Given the description of an element on the screen output the (x, y) to click on. 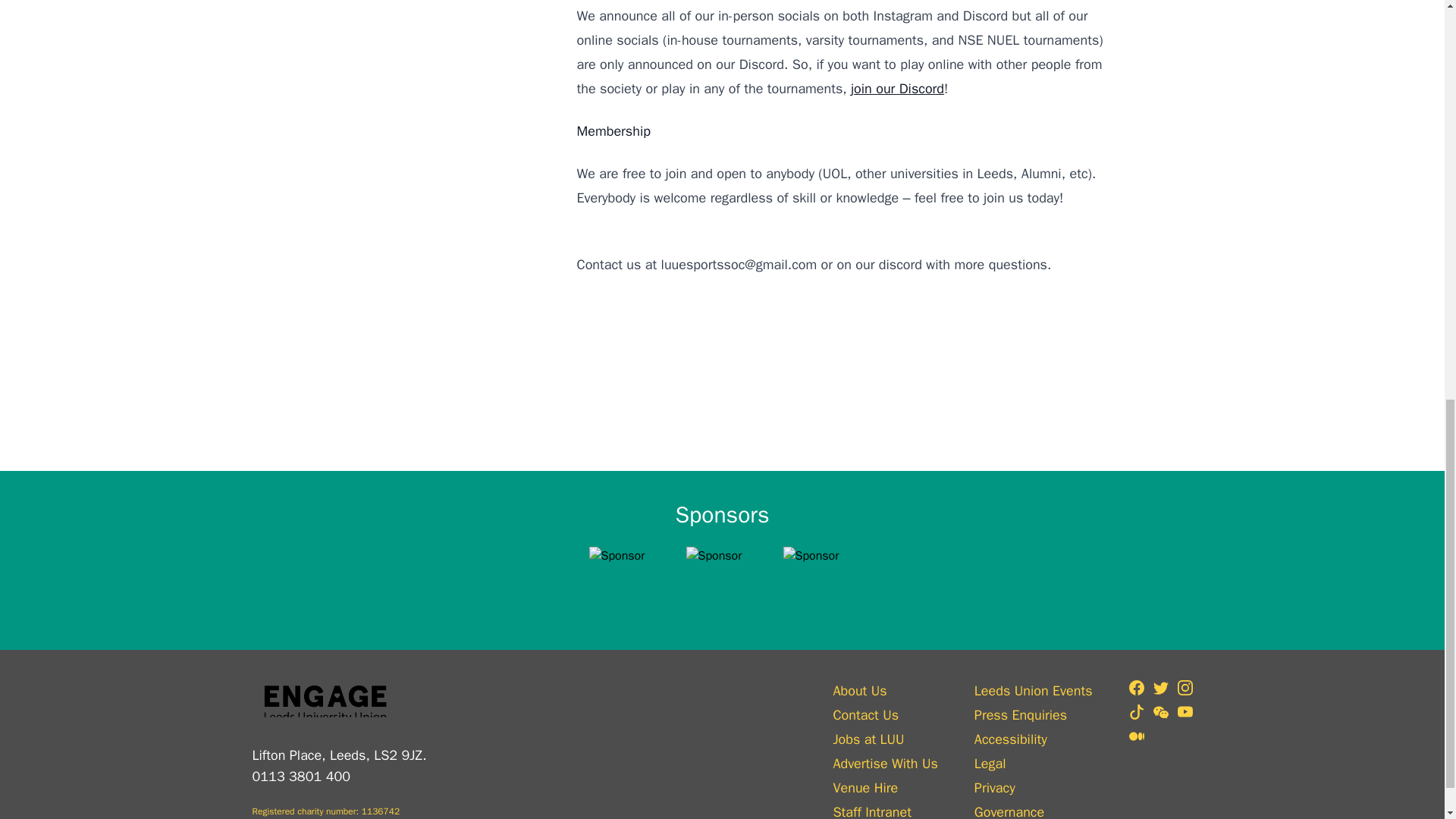
Contact Us (884, 714)
Staff Intranet (884, 810)
Advertise With Us (884, 762)
Venue Hire (884, 787)
About Us (884, 690)
Jobs at LUU (884, 739)
Leeds Union Events (1033, 690)
join our Discord (896, 88)
